Given the description of an element on the screen output the (x, y) to click on. 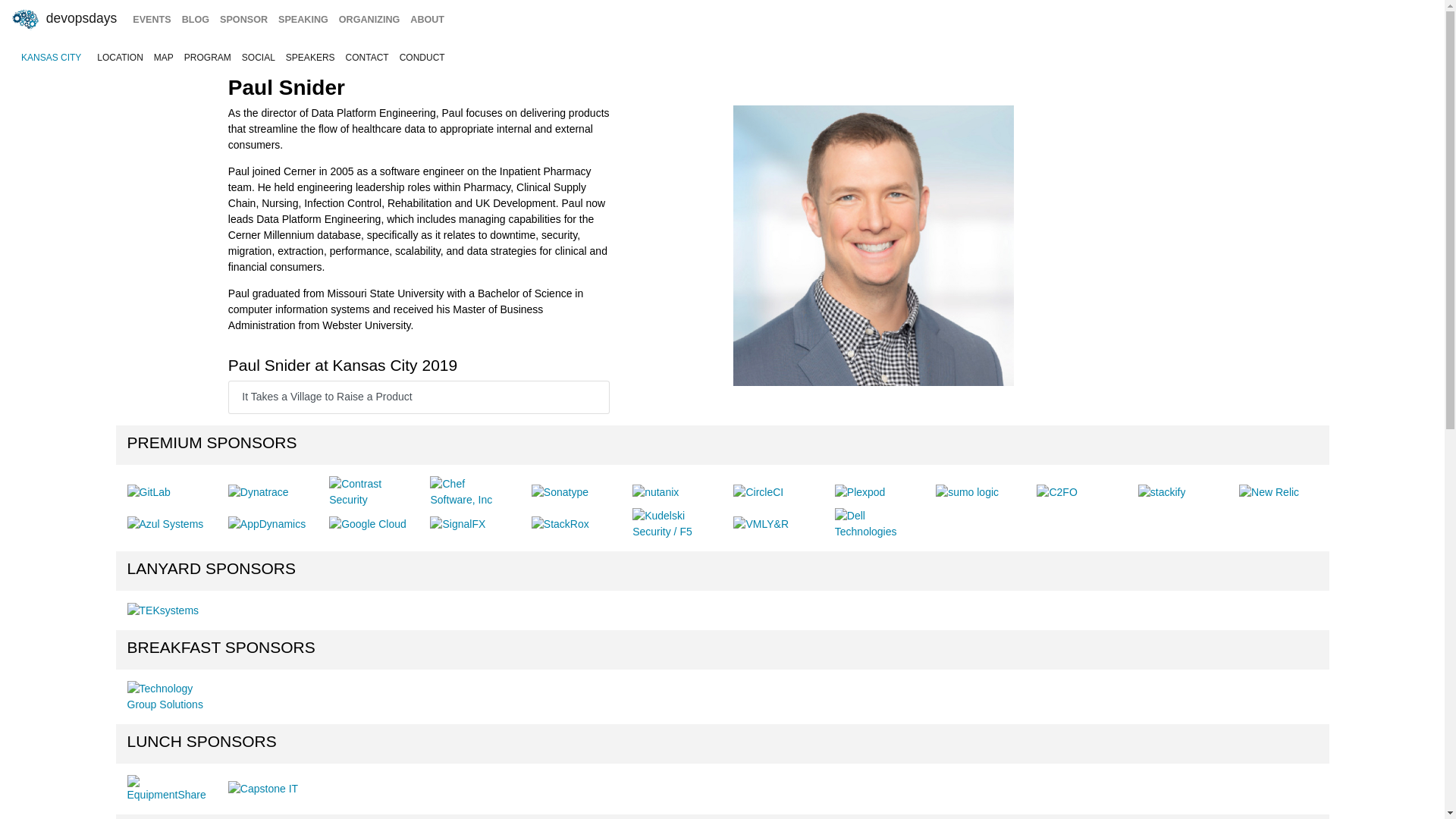
AppDynamics (266, 524)
GitLab (149, 492)
Azul Systems (165, 524)
New Relic (1268, 492)
ORGANIZING (368, 19)
Dynatrace (258, 492)
CONTACT (367, 57)
PROGRAM (207, 57)
Plexpod (859, 492)
devopsdays (63, 19)
